Given the description of an element on the screen output the (x, y) to click on. 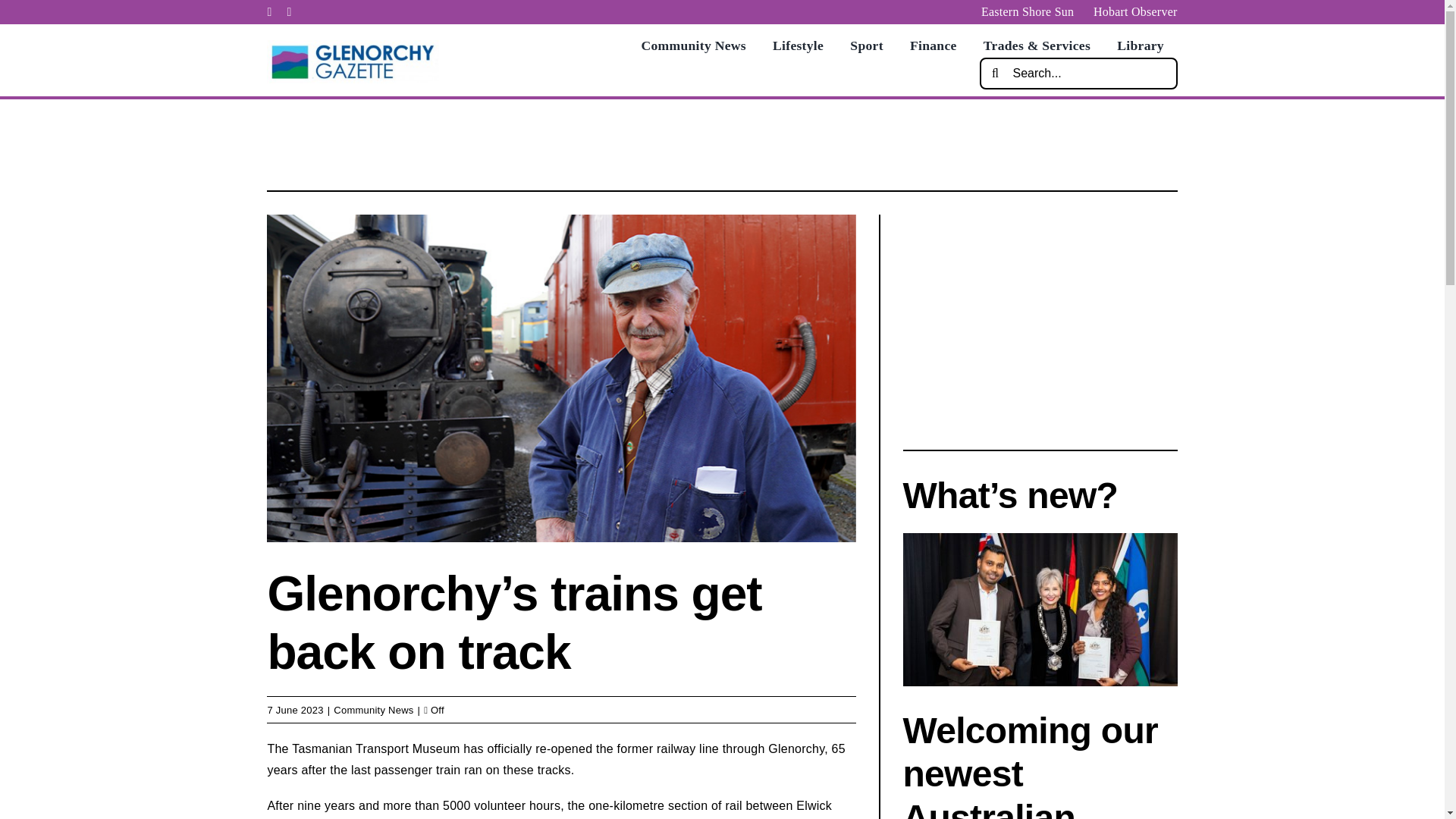
Finance (933, 45)
Community News (693, 45)
Advertisement (721, 141)
Community News (373, 709)
Welcoming our newest Australian Citizens (1029, 764)
Lifestyle (798, 45)
Advertisement (1039, 320)
Library (1139, 45)
Sport (866, 45)
Page 8 (561, 778)
